Given the description of an element on the screen output the (x, y) to click on. 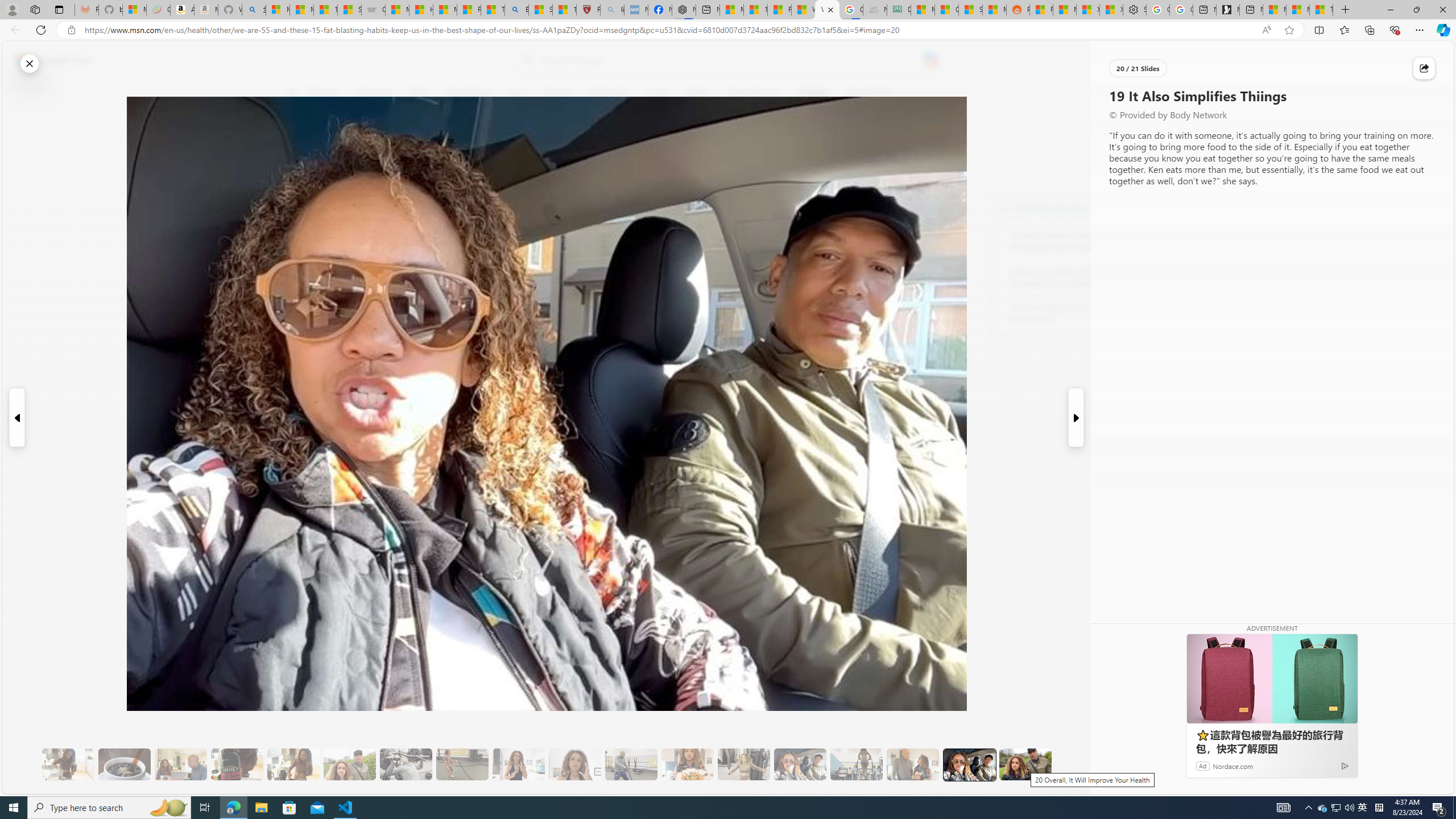
Recipes - MSN (469, 9)
Microsoft rewards (1382, 60)
13 Her Husband Does Group Cardio Classs (631, 764)
Lifestyle (812, 92)
Science (557, 92)
Class: button-glyph (292, 92)
Follow (518, 146)
14 They Have Salmon and Veggies for Dinner (687, 764)
6 Since Eating More Protein Her Training Has Improved (237, 764)
Following (373, 92)
